Given the description of an element on the screen output the (x, y) to click on. 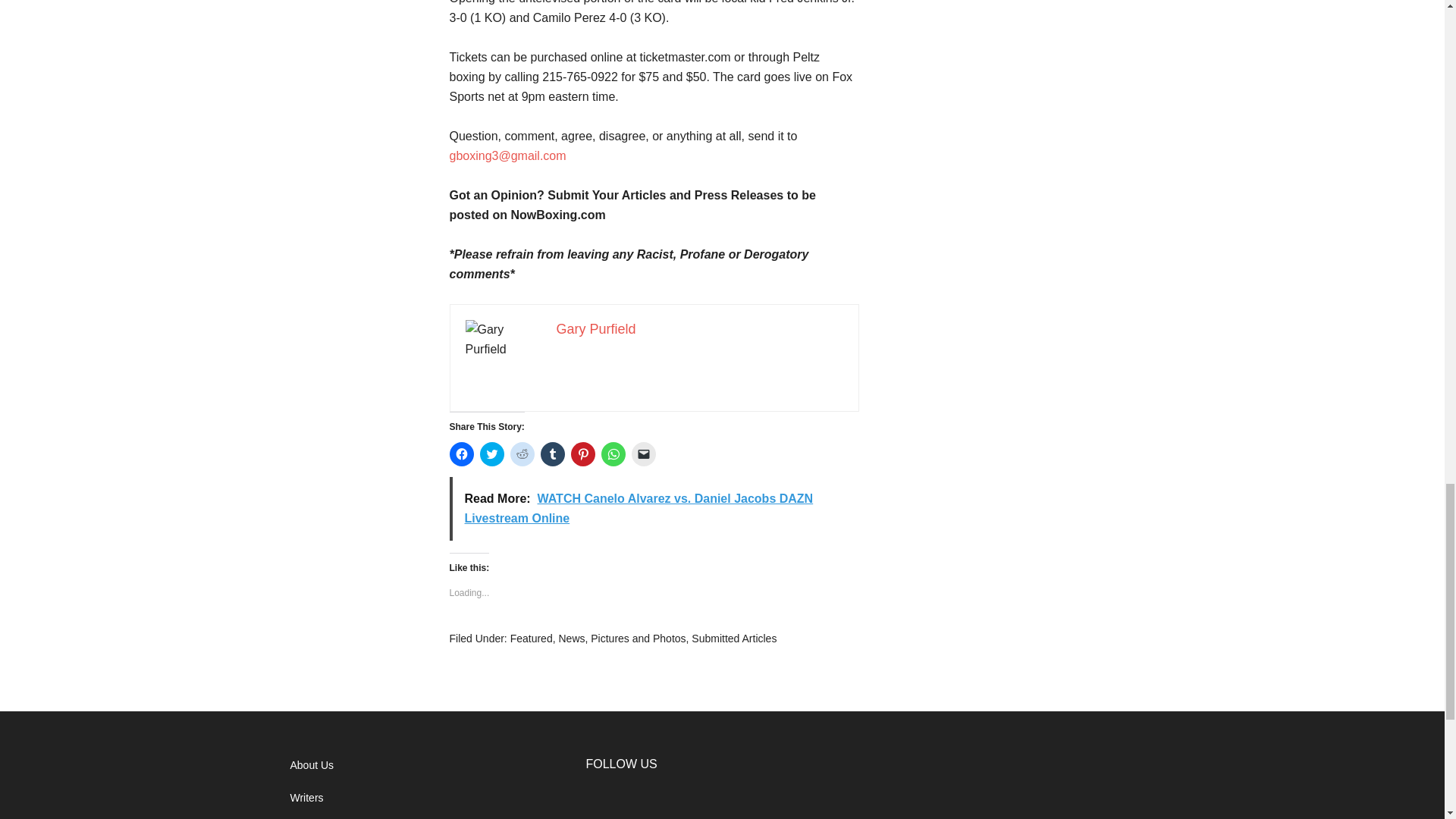
Click to share on WhatsApp (611, 454)
Submitted Articles (733, 638)
Click to share on Twitter (491, 454)
Featured (532, 638)
News (571, 638)
Gary Purfield (596, 328)
Click to share on Facebook (460, 454)
Pictures and Photos (638, 638)
Click to share on Pinterest (582, 454)
